Given the description of an element on the screen output the (x, y) to click on. 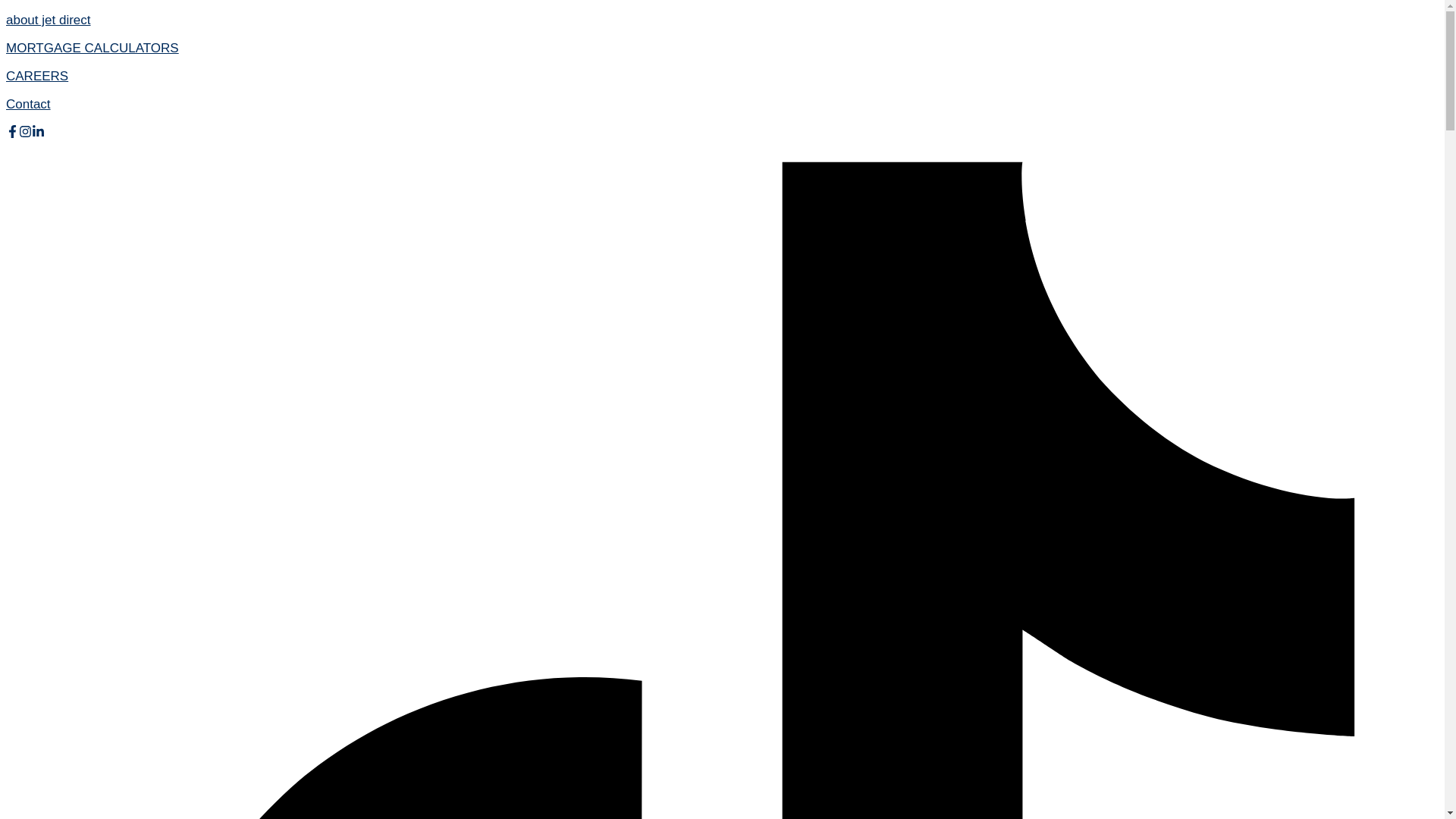
Contact (27, 104)
MORTGAGE CALCULATORS (92, 47)
about jet direct (47, 20)
CAREERS (36, 75)
